Given the description of an element on the screen output the (x, y) to click on. 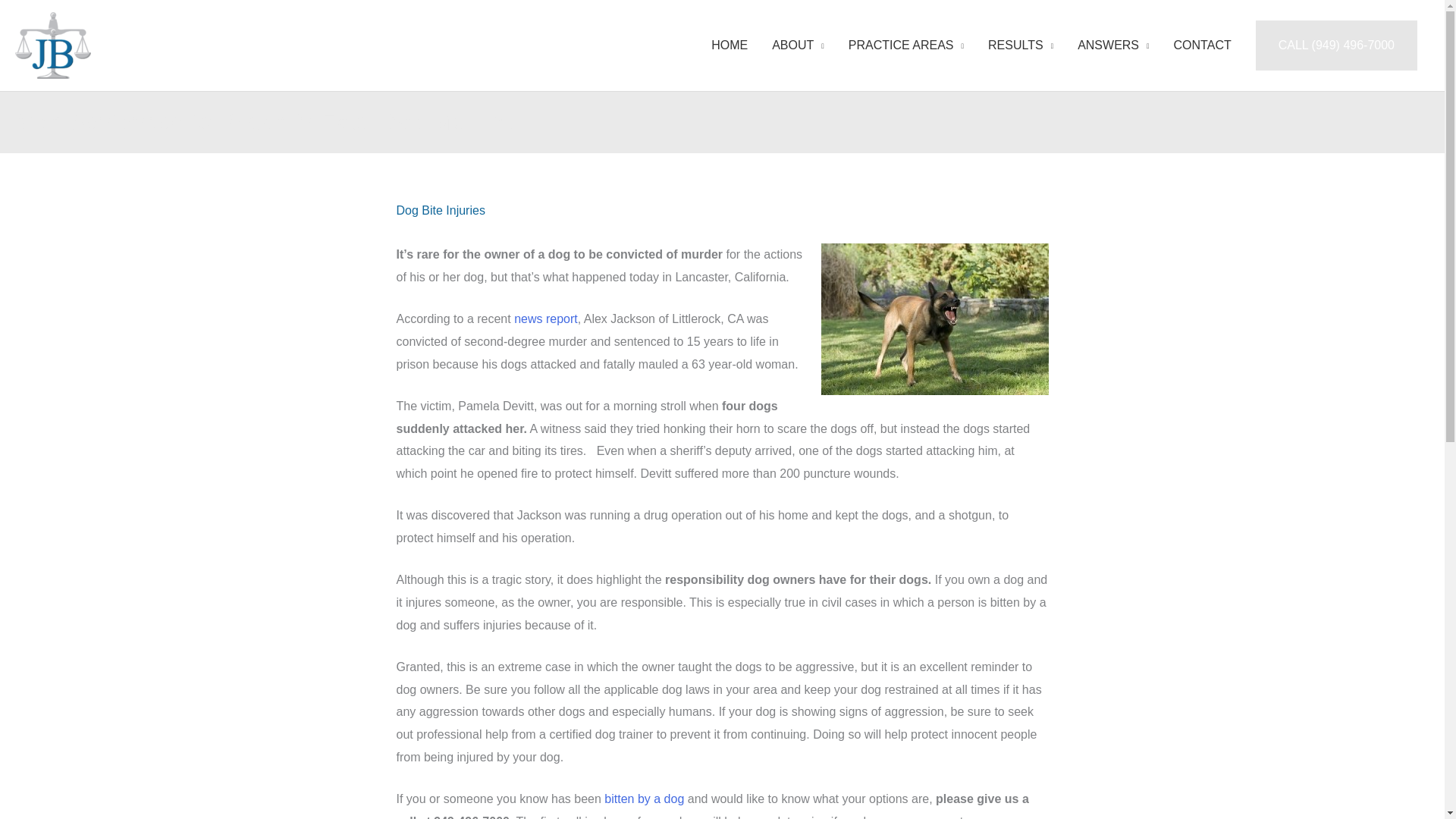
Dog Bites (644, 798)
Dog Bite Injuries (440, 210)
PRACTICE AREAS (905, 45)
CONTACT (1202, 45)
bitten by a dog (644, 798)
news report (545, 318)
ANSWERS (1112, 45)
RESULTS (1020, 45)
